Given the description of an element on the screen output the (x, y) to click on. 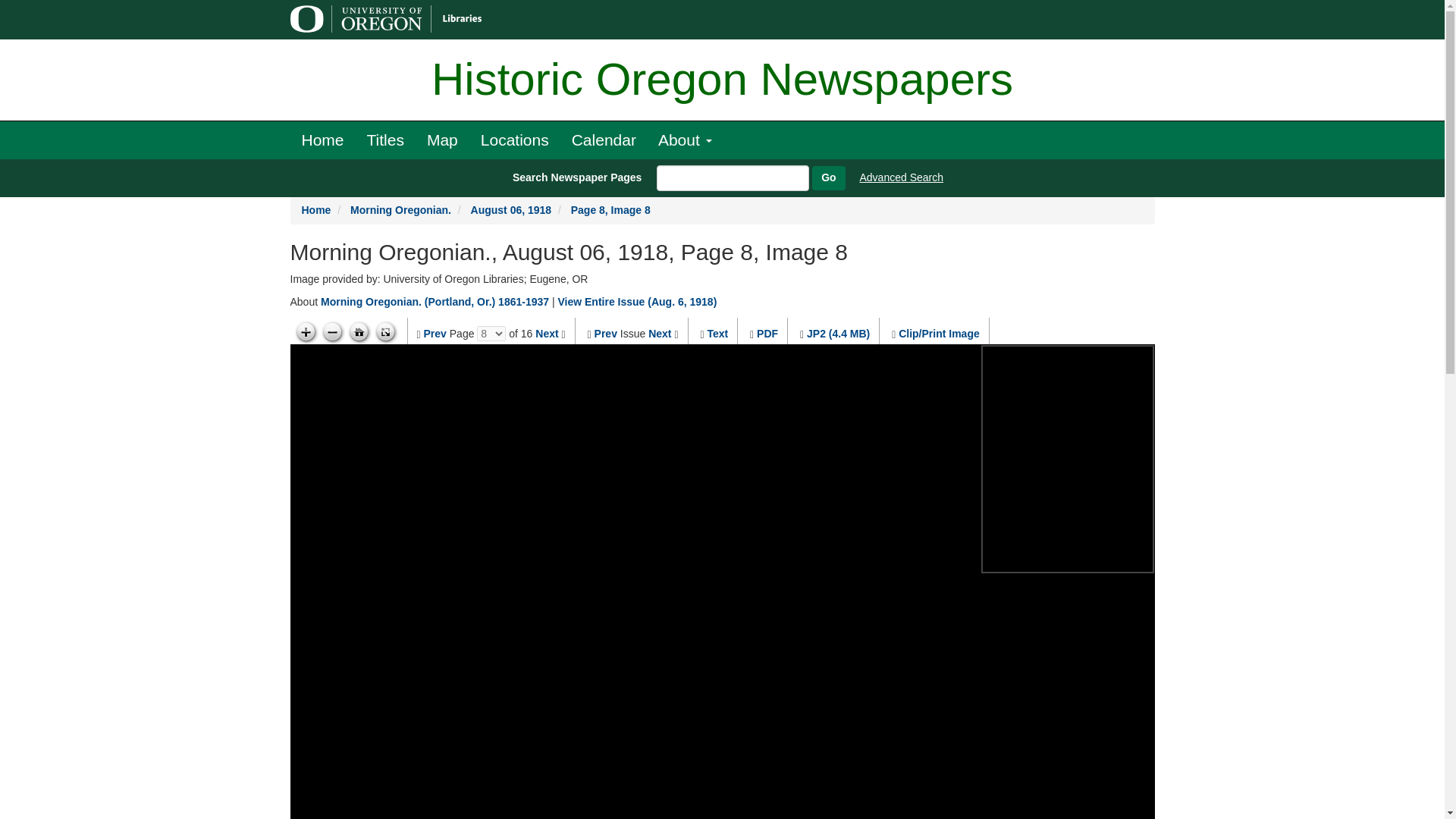
Toggle full page (385, 332)
Go (828, 178)
PDF (767, 333)
Go home (359, 332)
Historic Oregon Newspapers (721, 79)
August 06, 1918 (510, 209)
Prev (605, 333)
Home (316, 209)
Titles (384, 139)
Prev (434, 333)
